Given the description of an element on the screen output the (x, y) to click on. 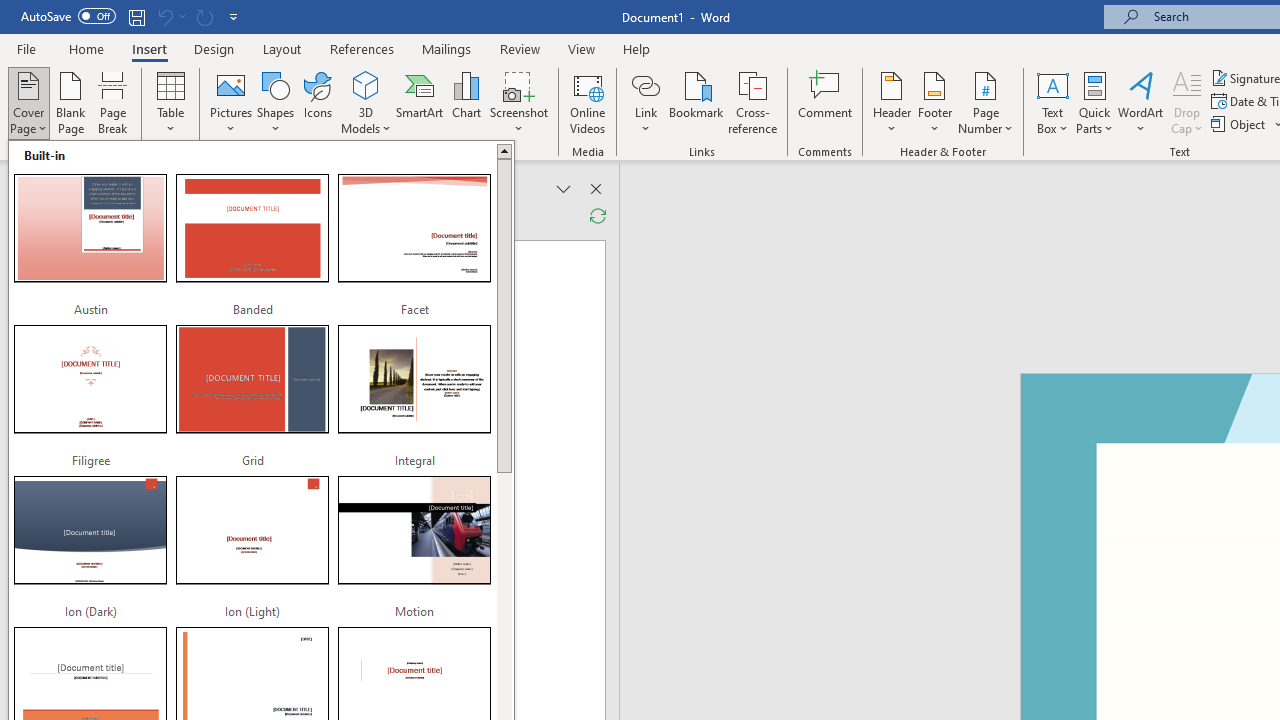
Quick Parts (1094, 102)
Link (645, 102)
Page Break (113, 102)
Pictures (230, 102)
Chart... (466, 102)
Link (645, 84)
